Given the description of an element on the screen output the (x, y) to click on. 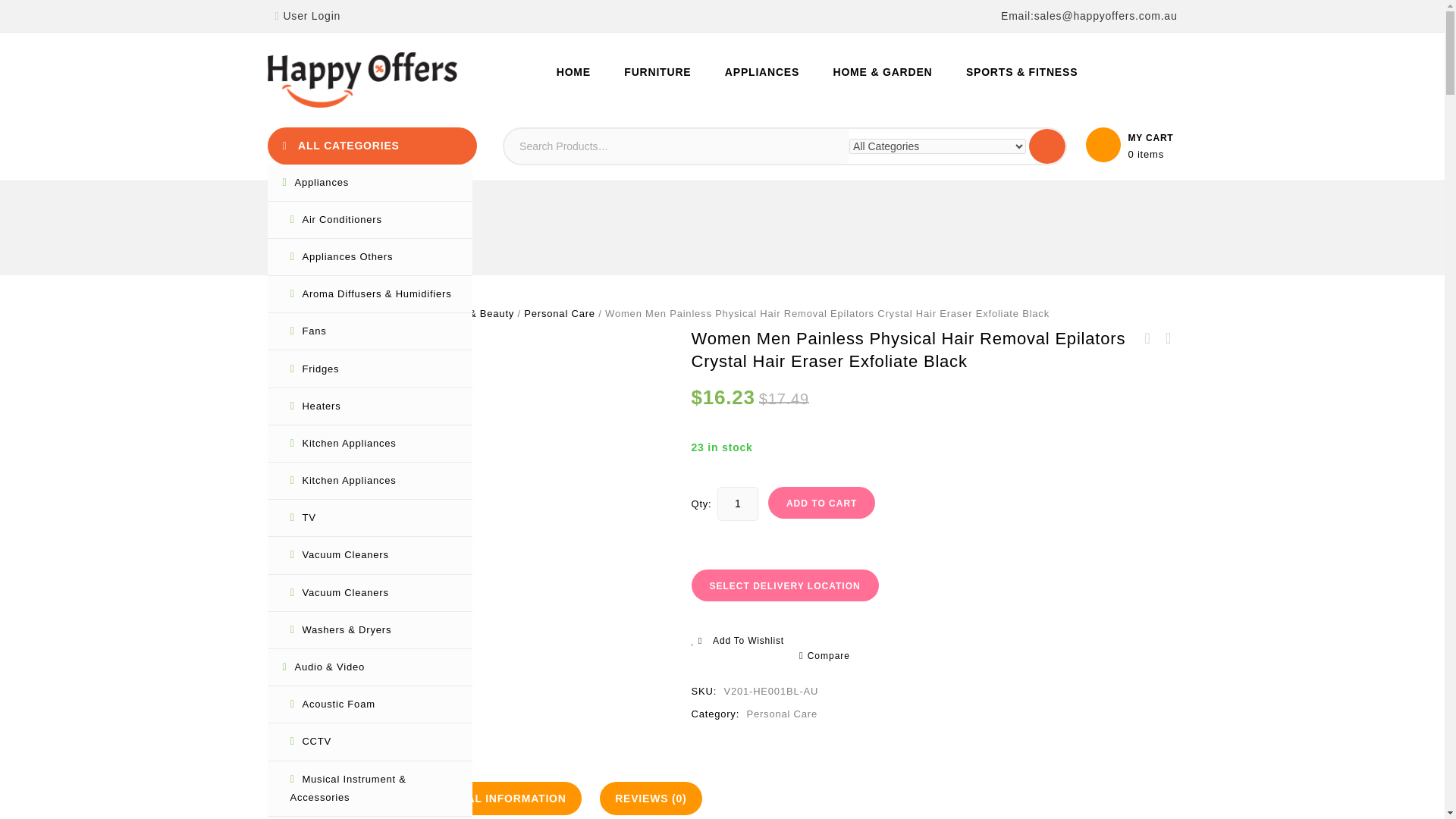
View your shopping cart (1149, 154)
APPLIANCES (761, 72)
View your shopping cart (1131, 144)
happyoffers.com.au (361, 79)
1 (737, 503)
Qty (737, 503)
HOME (573, 72)
Search (1047, 145)
FURNITURE (657, 72)
Search for: (675, 145)
